Given the description of an element on the screen output the (x, y) to click on. 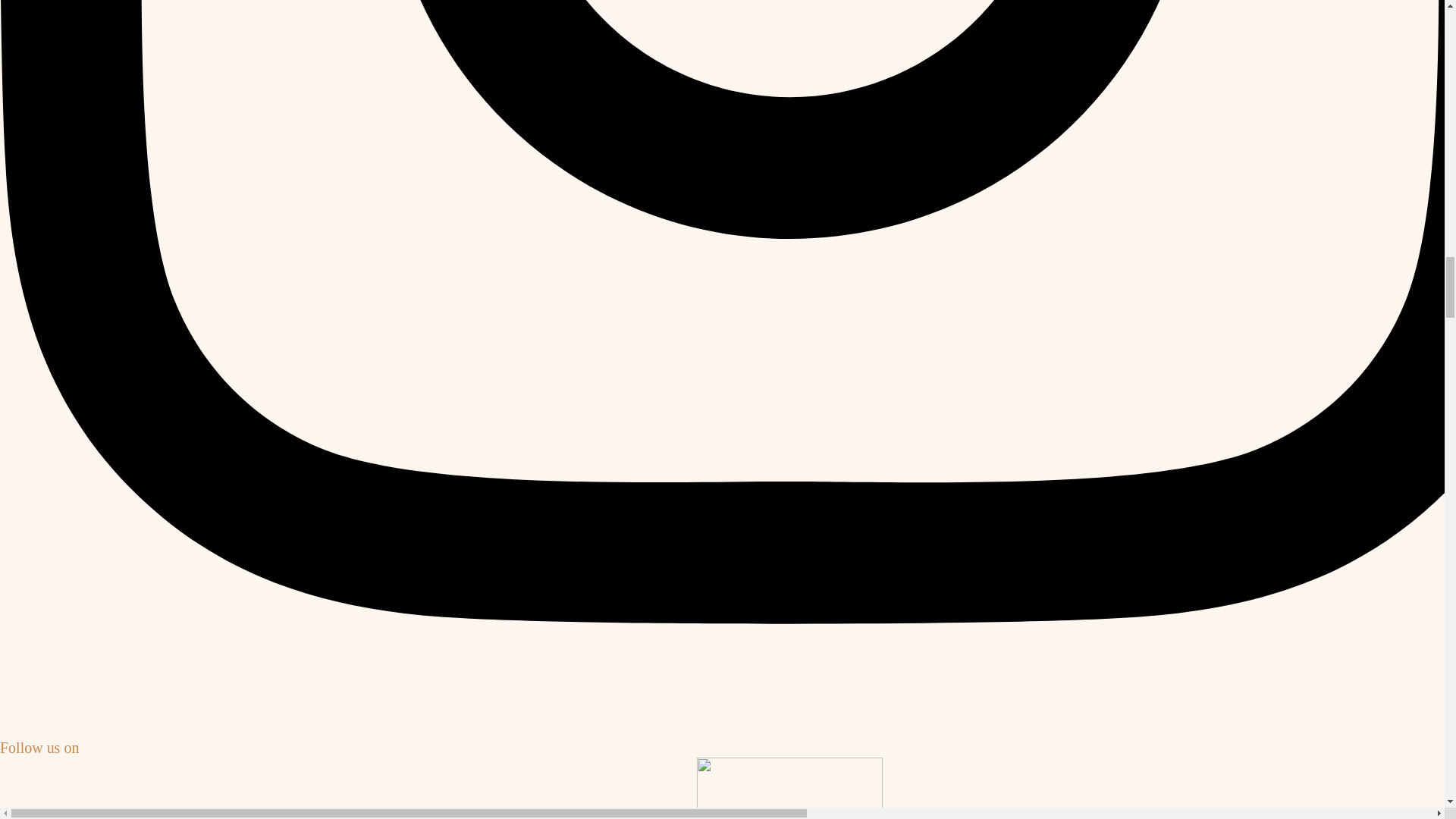
Follow us on (39, 747)
